Given the description of an element on the screen output the (x, y) to click on. 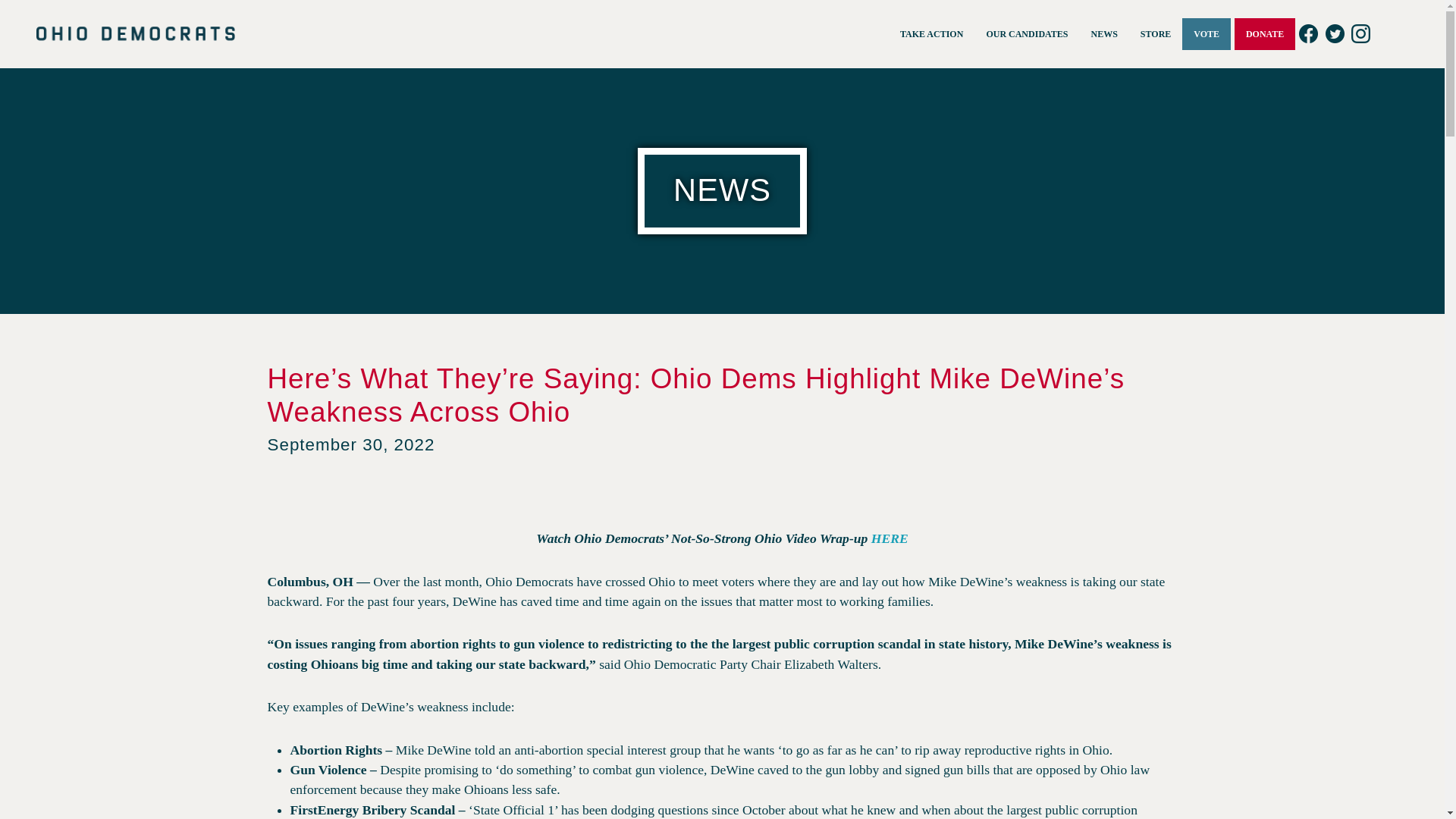
DONATE (1264, 33)
OUR CANDIDATES (1026, 33)
OHIO DEMOCRATS (135, 33)
TAKE ACTION (931, 33)
NEWS (1104, 33)
HERE (889, 538)
VOTE (1206, 33)
STORE (1155, 33)
